Given the description of an element on the screen output the (x, y) to click on. 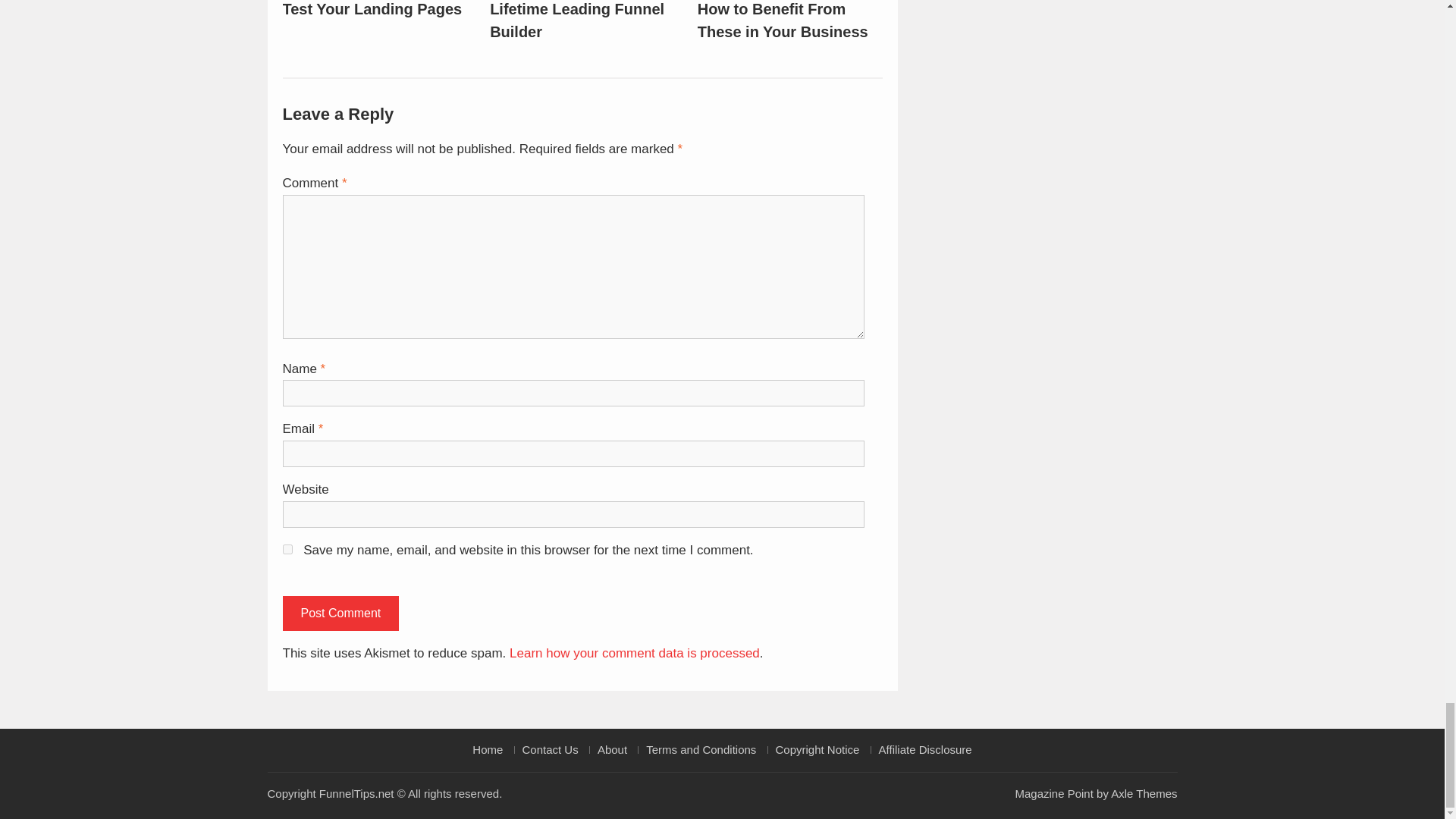
Post Comment (340, 613)
yes (287, 549)
